Given the description of an element on the screen output the (x, y) to click on. 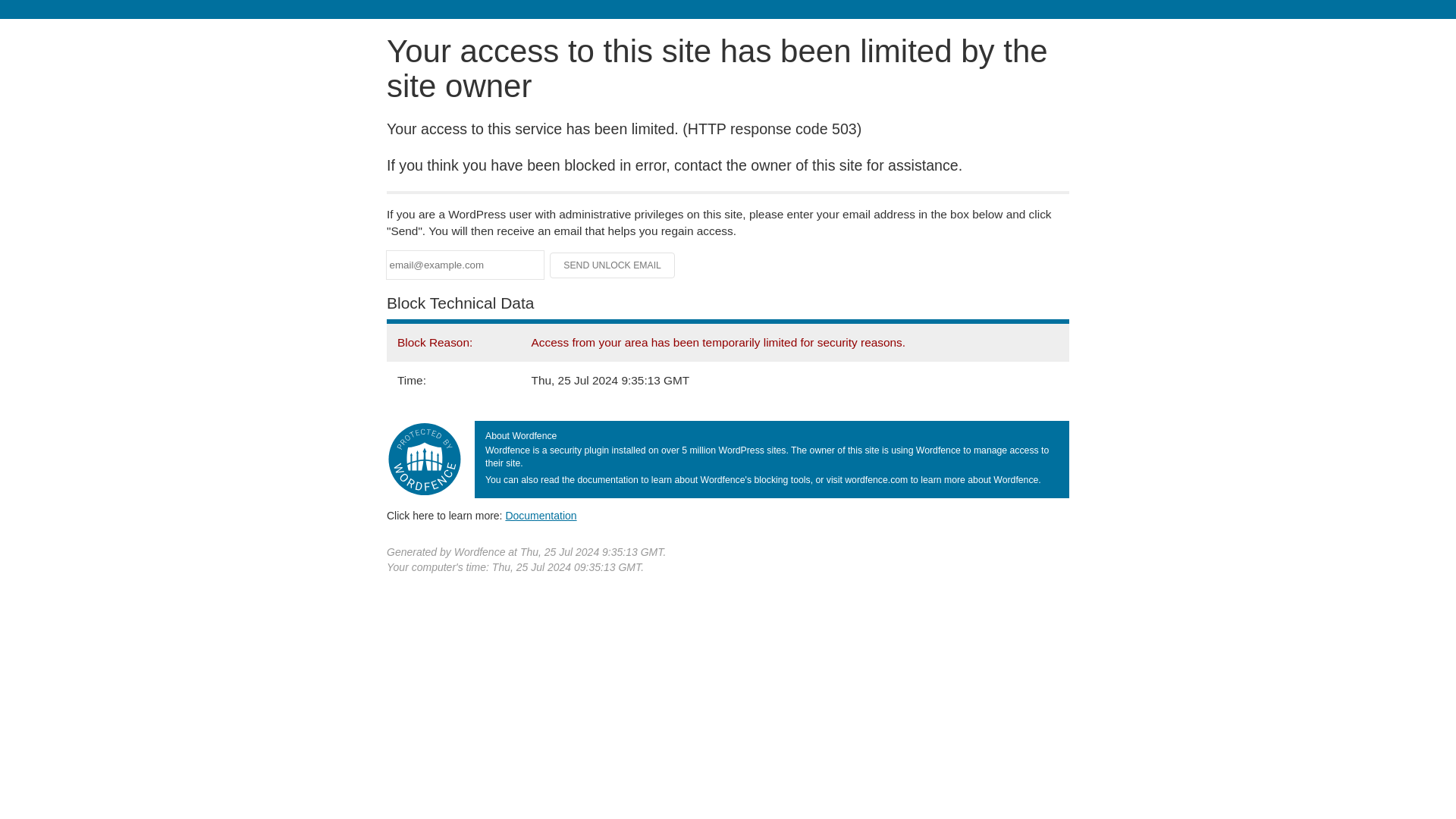
Send Unlock Email (612, 265)
Documentation (540, 515)
Send Unlock Email (612, 265)
